Given the description of an element on the screen output the (x, y) to click on. 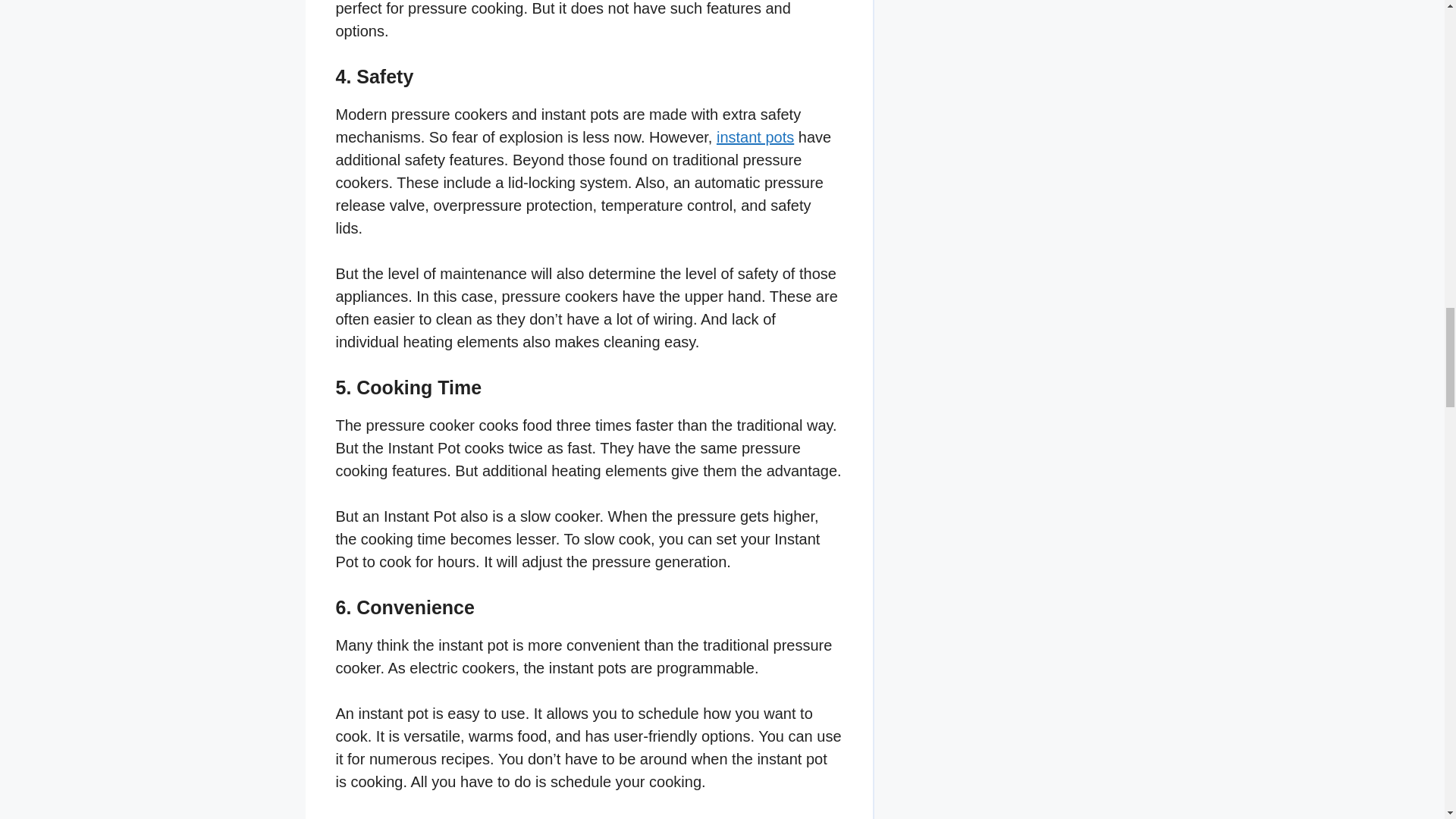
instant pots (754, 136)
